Given the description of an element on the screen output the (x, y) to click on. 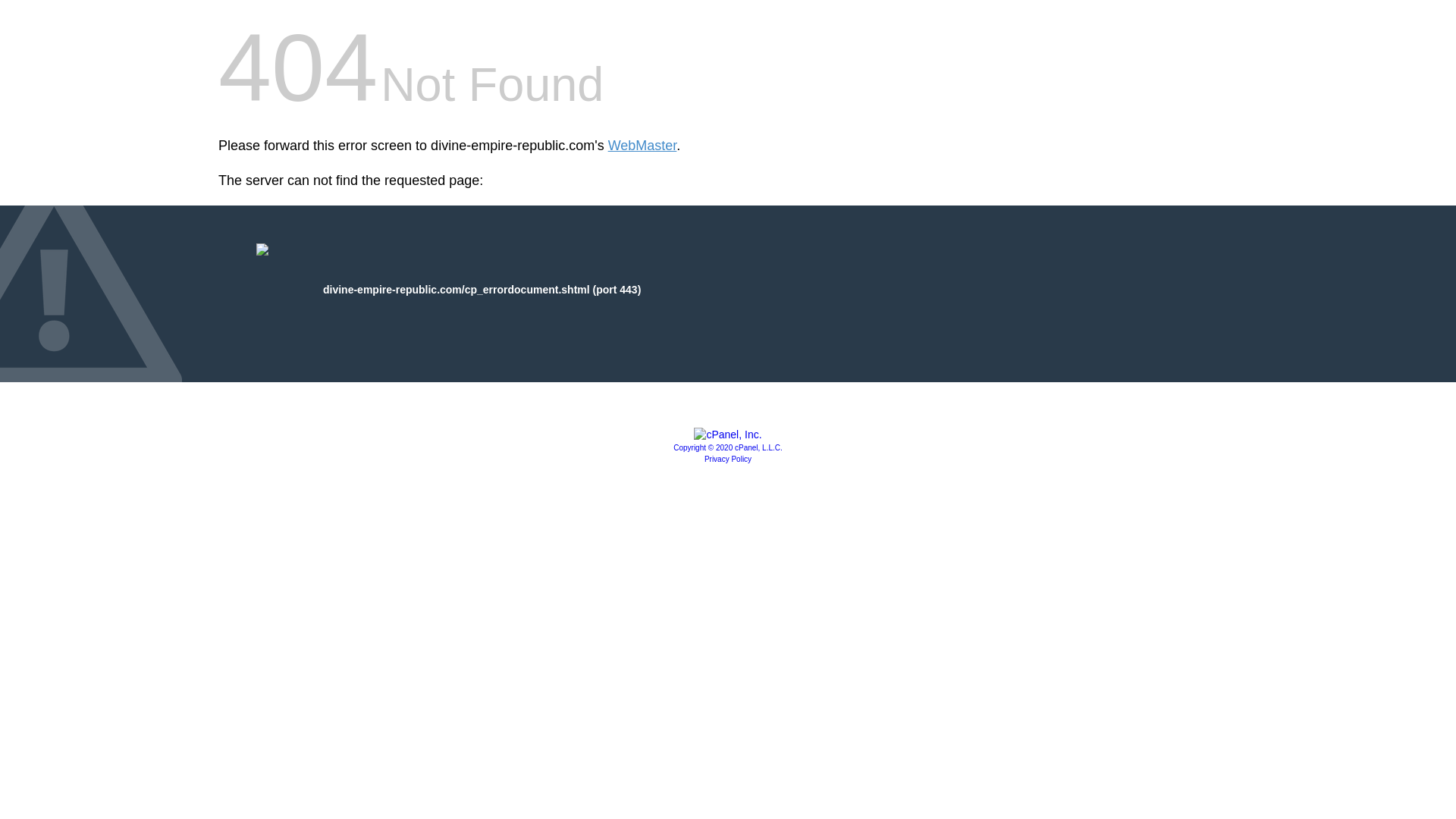
cPanel, Inc. (727, 447)
WebMaster (642, 145)
cPanel, Inc. (727, 434)
Privacy Policy (727, 459)
